Given the description of an element on the screen output the (x, y) to click on. 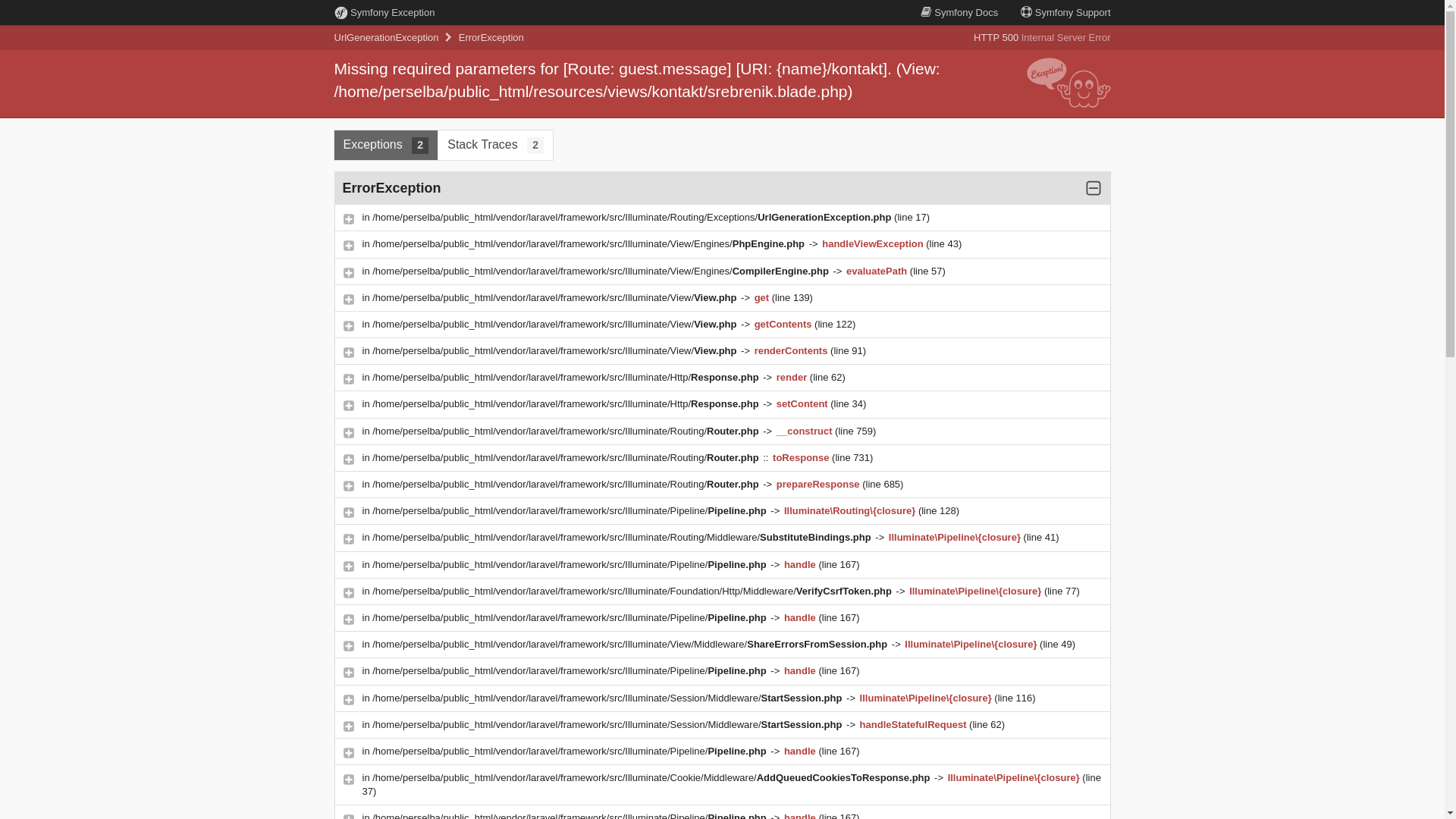
UrlGenerationException Element type: text (385, 37)
Symfony Support Element type: text (1065, 12)
Symfony Docs Element type: text (958, 12)
ErrorException Element type: text (491, 37)
